Given the description of an element on the screen output the (x, y) to click on. 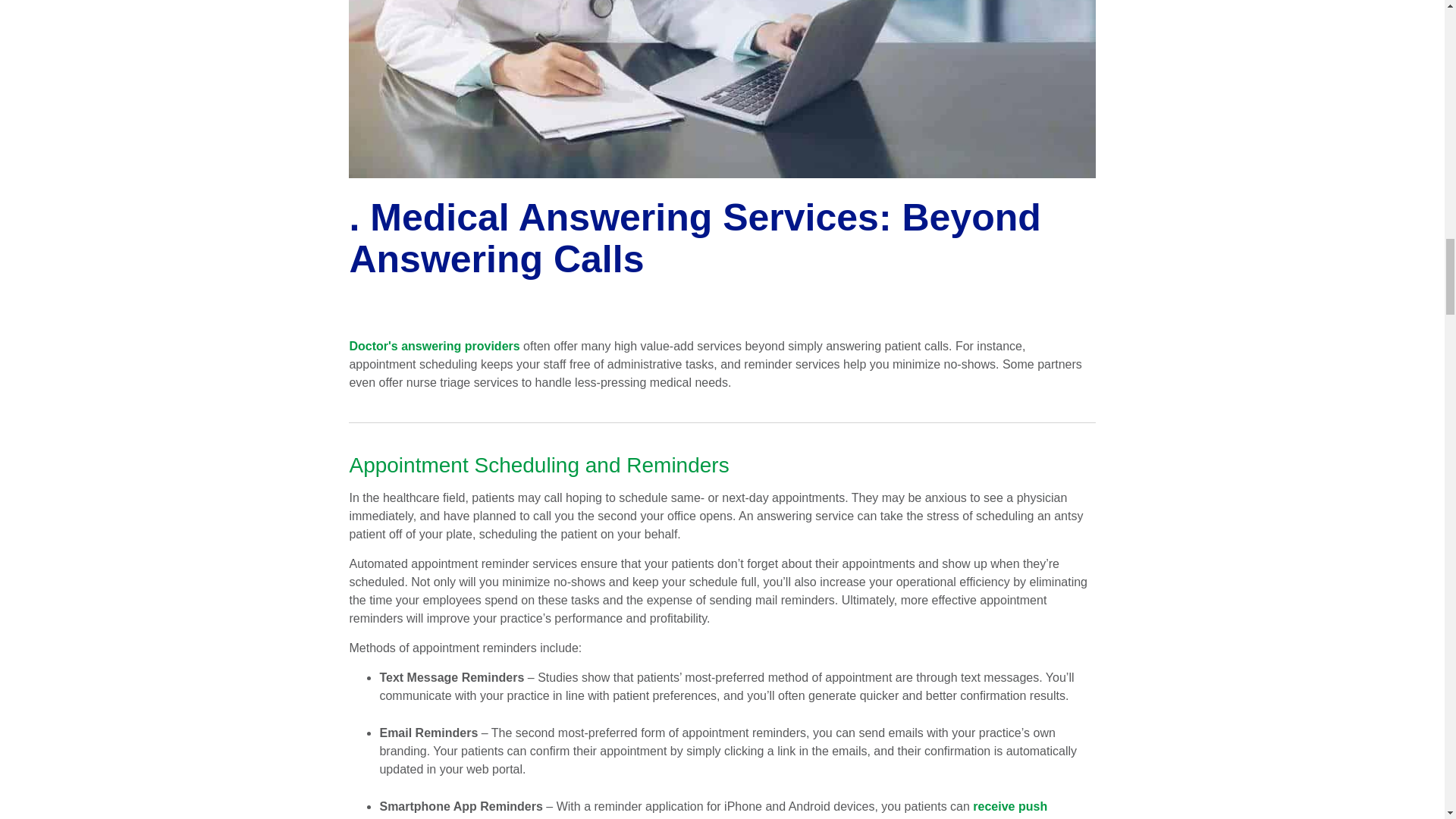
receive push notifications (712, 809)
Doctor's answering providers (434, 345)
